Given the description of an element on the screen output the (x, y) to click on. 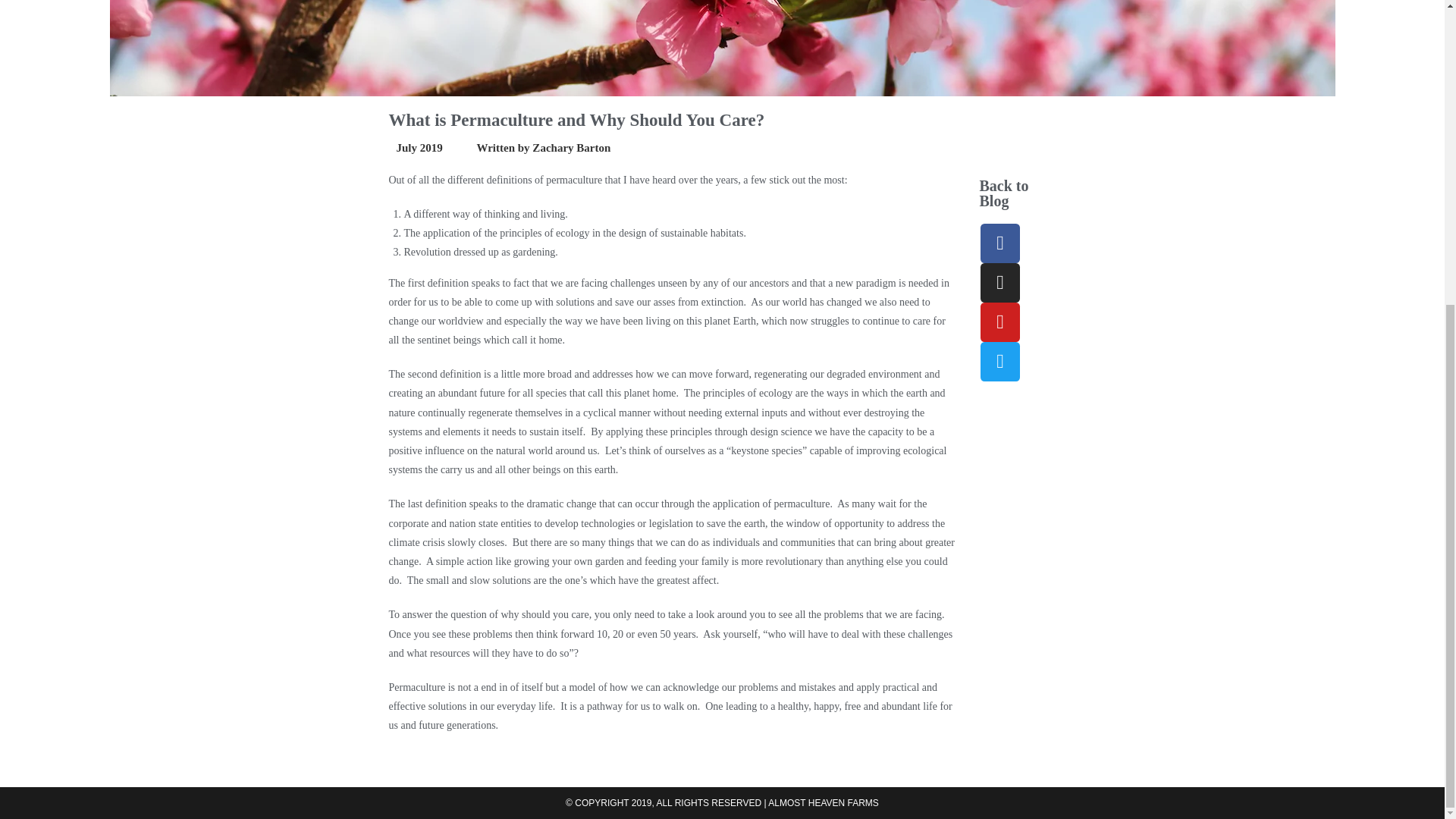
Back to Blog (1002, 193)
